Given the description of an element on the screen output the (x, y) to click on. 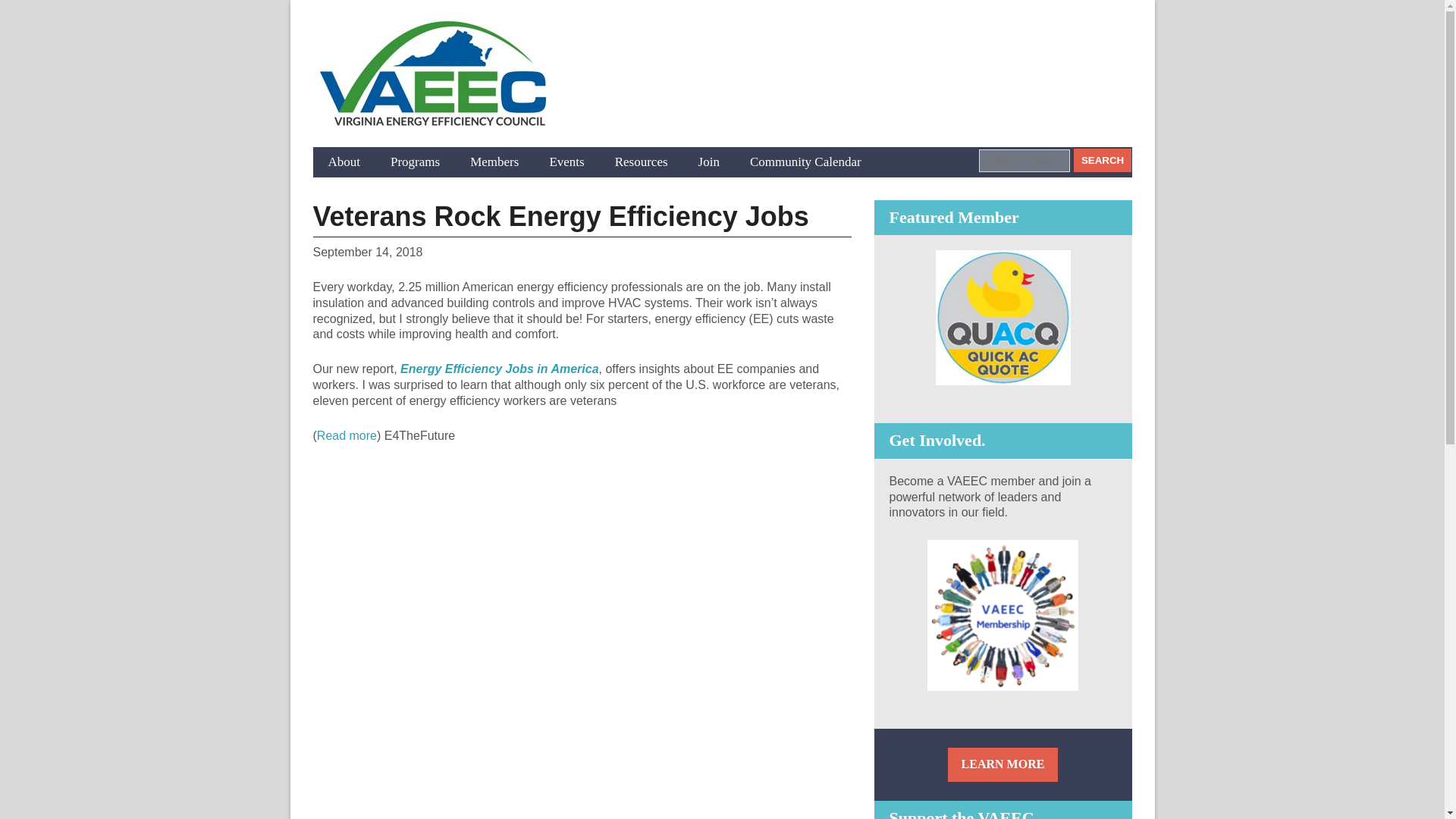
About (344, 162)
Join (708, 162)
Events (566, 162)
Resources (640, 162)
Members (494, 162)
Search (1102, 159)
Programs (414, 162)
